Given the description of an element on the screen output the (x, y) to click on. 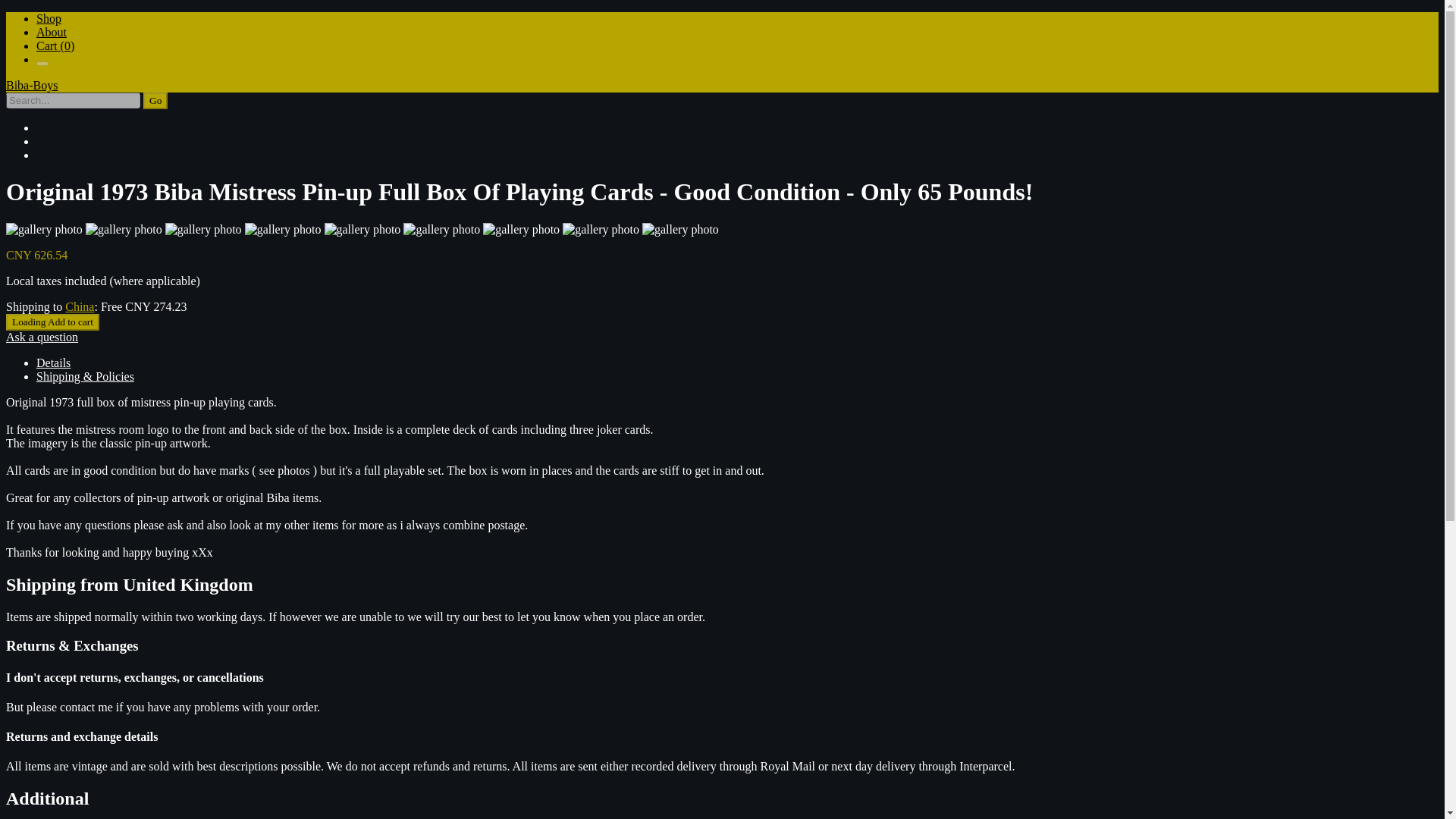
China (79, 306)
Go (154, 100)
Go (154, 100)
Shop (48, 18)
About (51, 31)
Ask a question (41, 336)
Details (52, 362)
Loading Add to cart (52, 321)
